Given the description of an element on the screen output the (x, y) to click on. 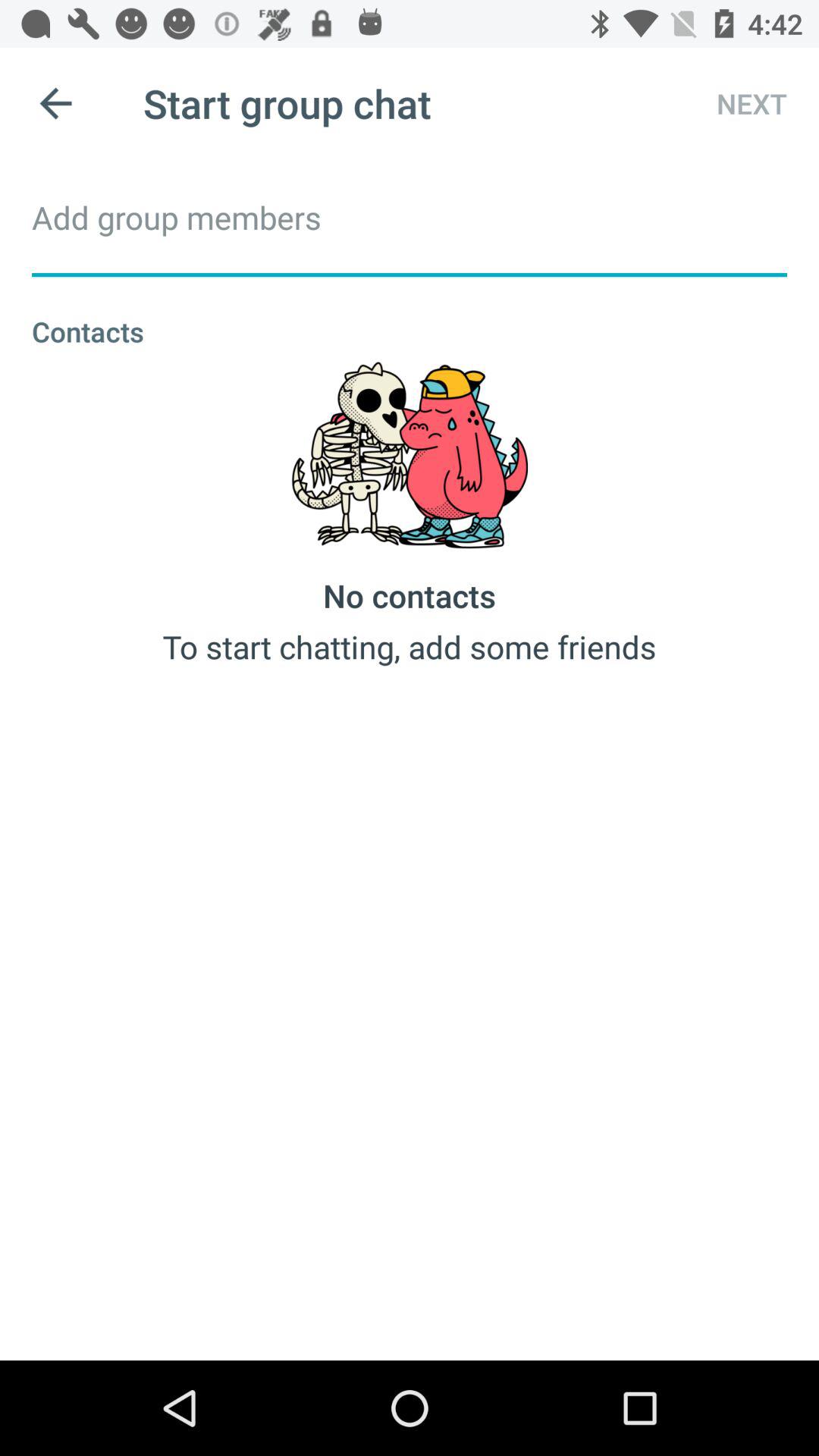
select icon to the right of the start group chat icon (737, 103)
